Given the description of an element on the screen output the (x, y) to click on. 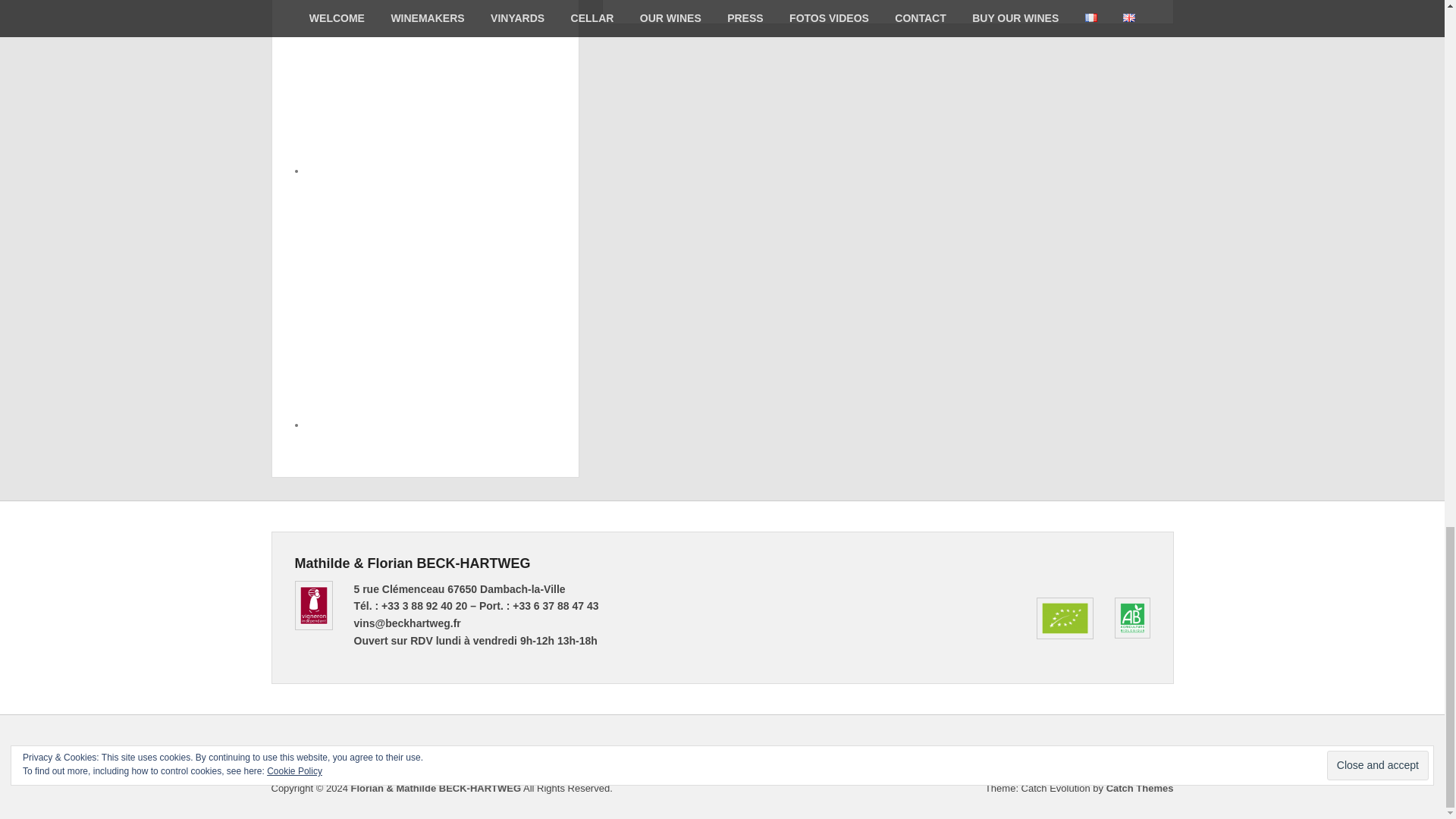
Facebook (1061, 750)
Instagram (1160, 750)
Catch Themes (1139, 787)
YouTube (1127, 750)
